Given the description of an element on the screen output the (x, y) to click on. 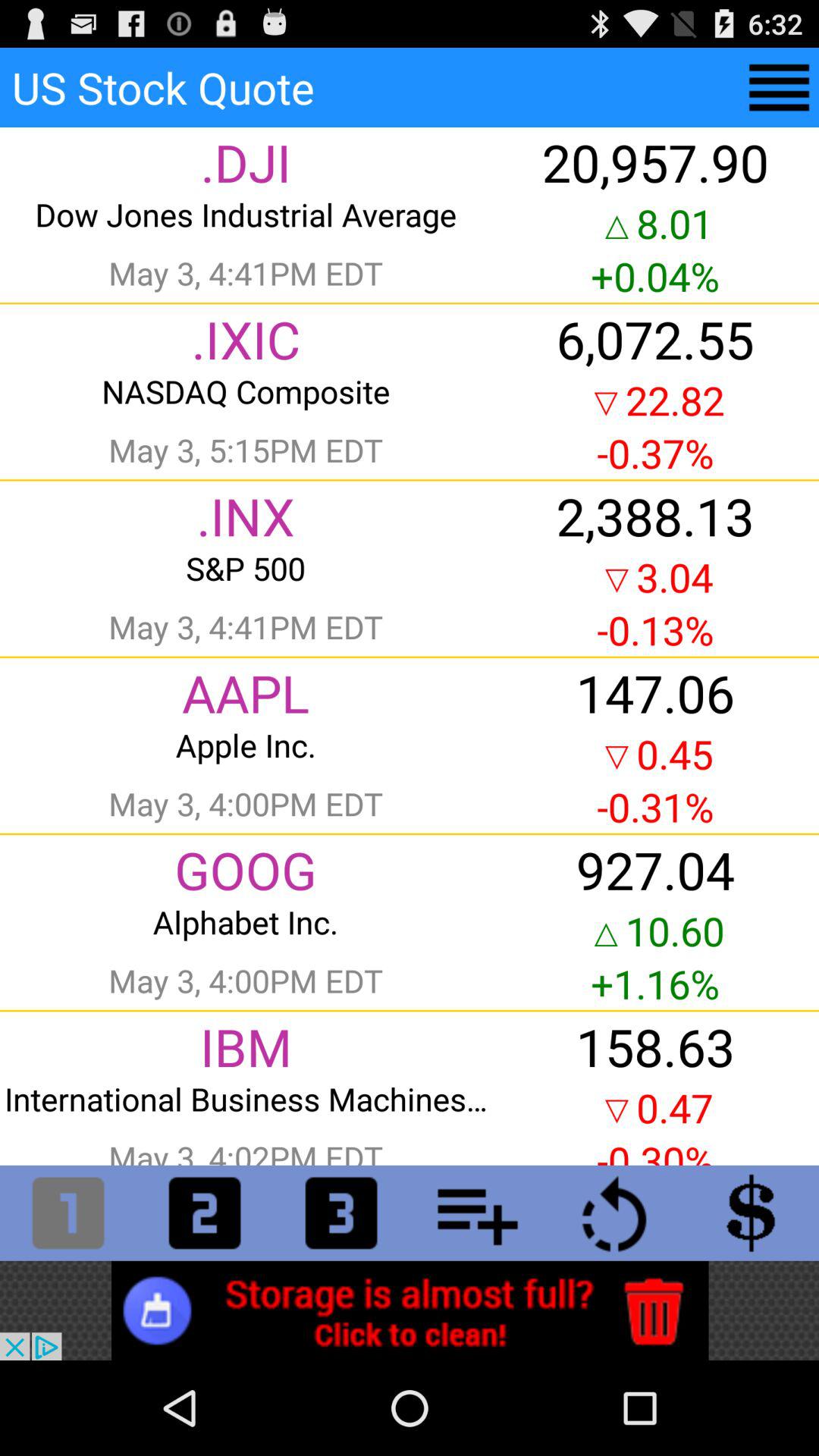
menu (779, 87)
